Given the description of an element on the screen output the (x, y) to click on. 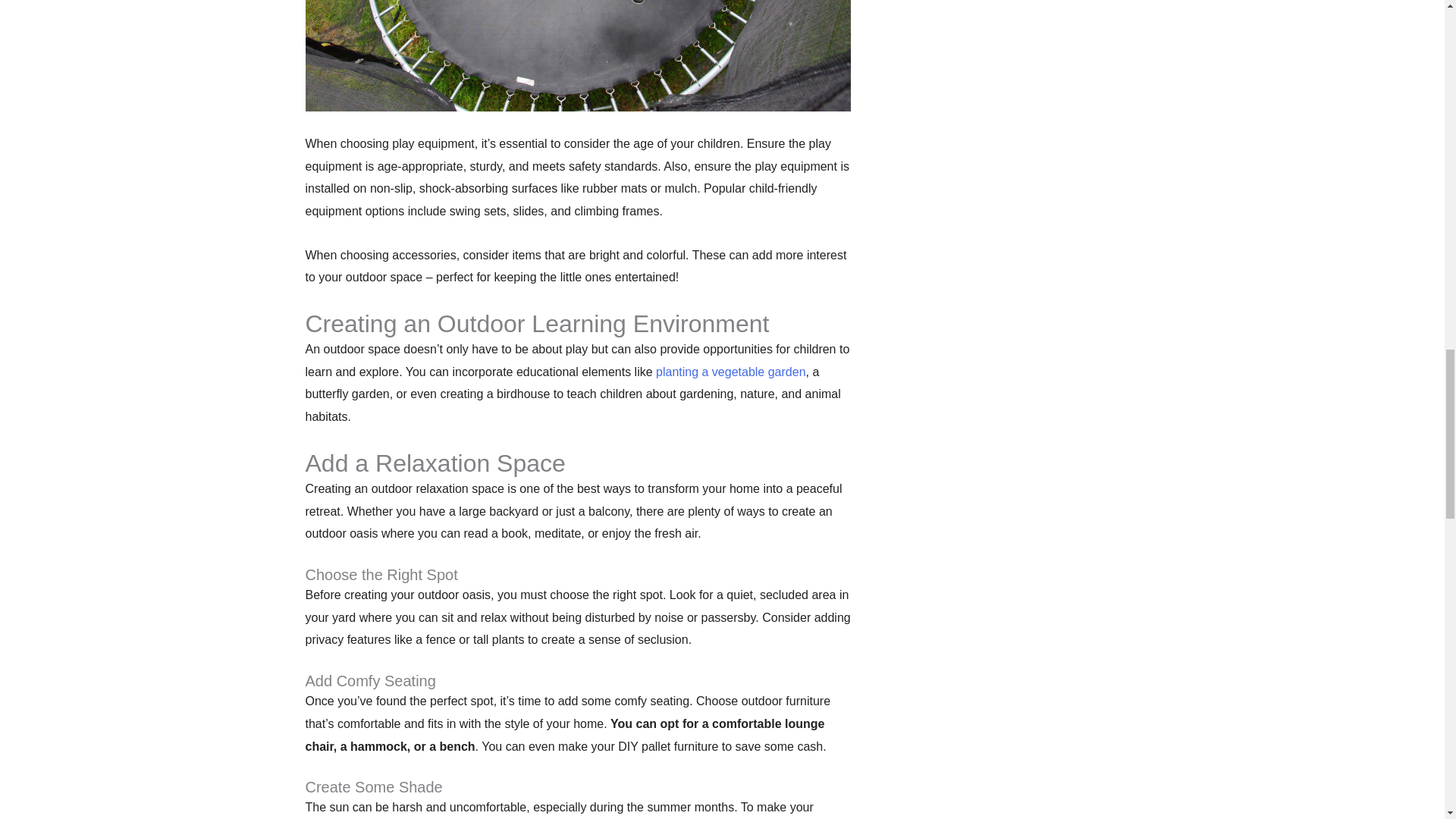
children in the trampoline (577, 55)
planting a vegetable garden (731, 371)
